Given the description of an element on the screen output the (x, y) to click on. 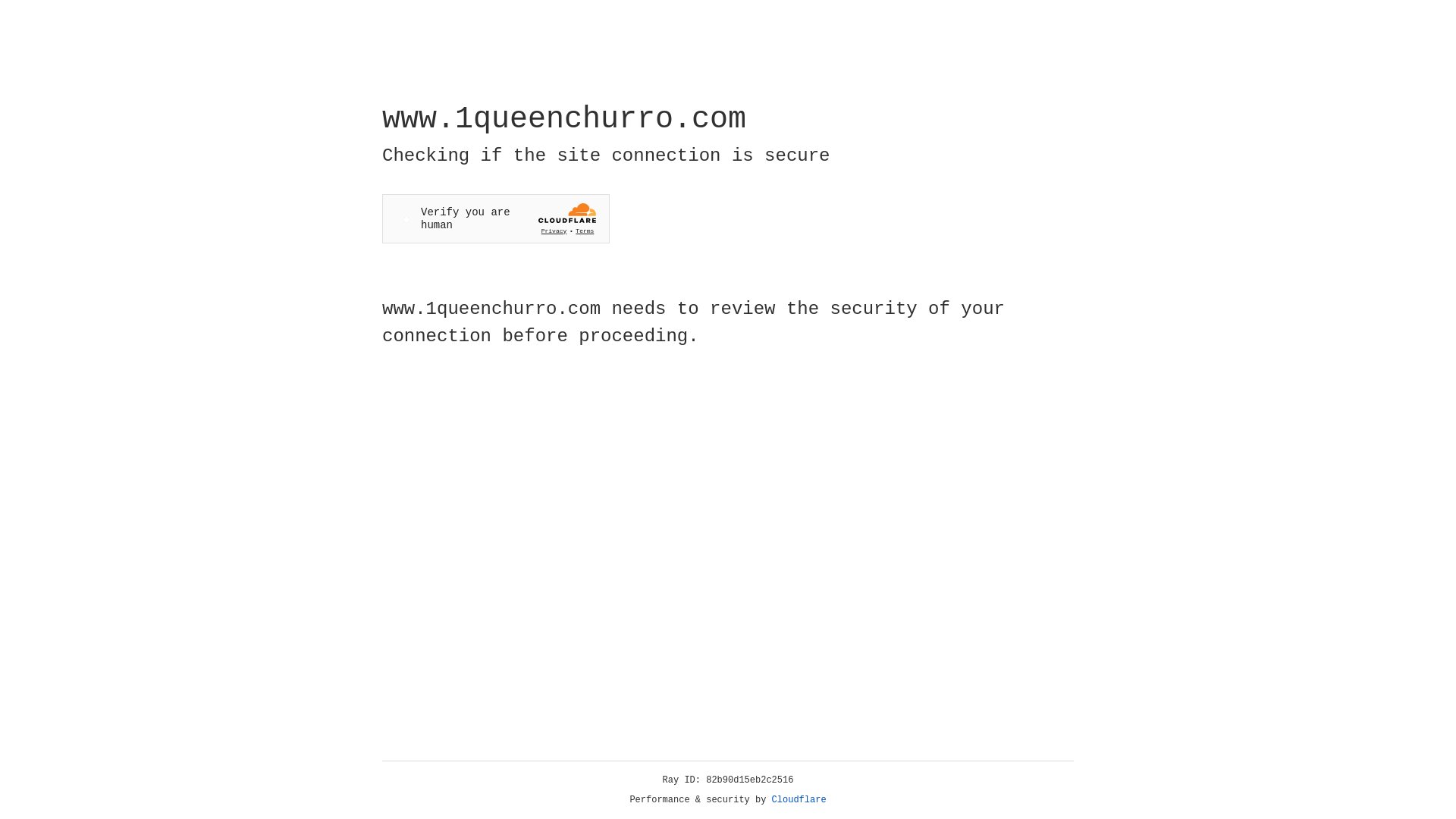
Widget containing a Cloudflare security challenge Element type: hover (495, 218)
Cloudflare Element type: text (798, 799)
